Given the description of an element on the screen output the (x, y) to click on. 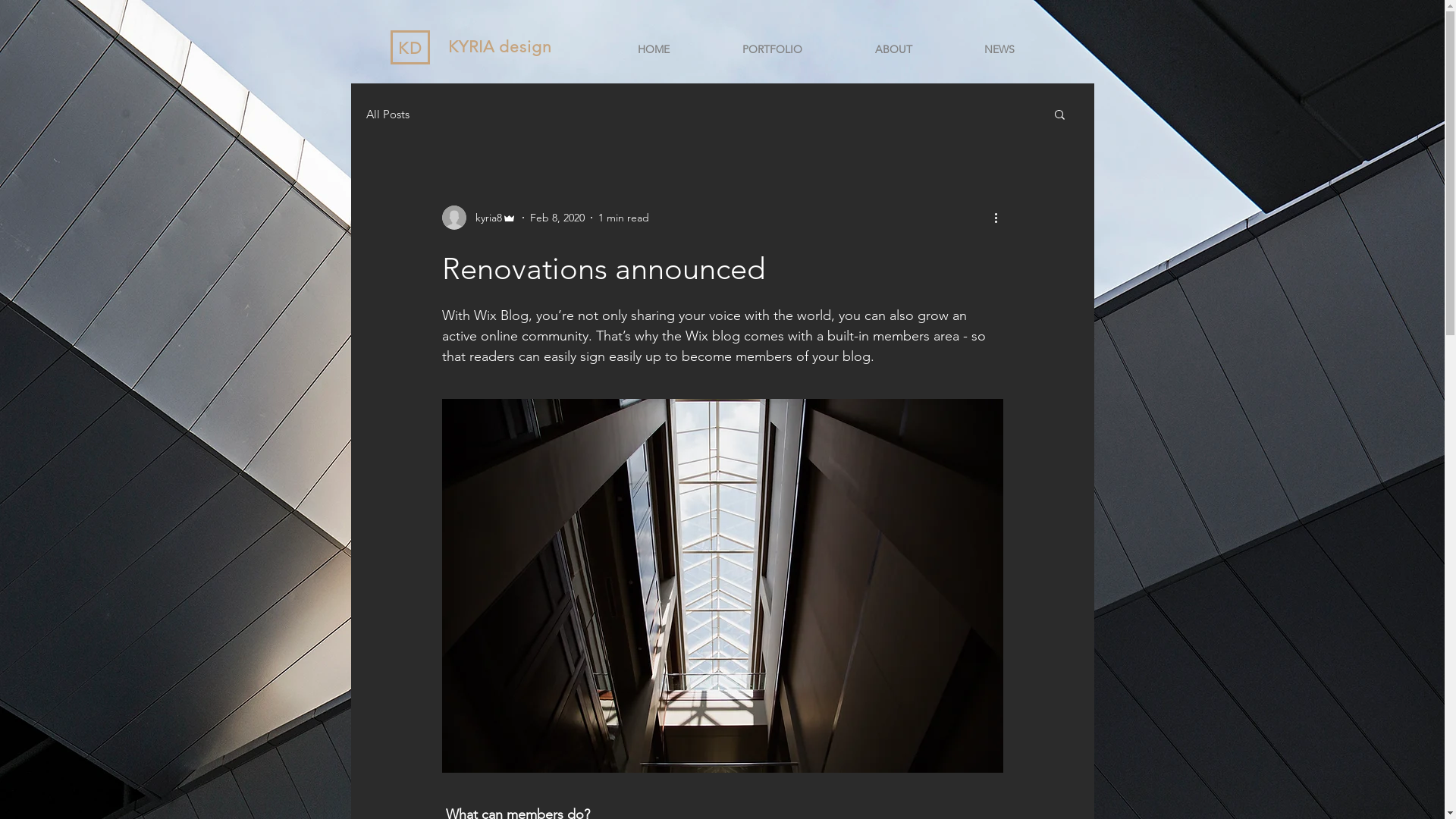
PORTFOLIO Element type: text (771, 48)
ABOUT Element type: text (893, 48)
NEWS Element type: text (998, 48)
All Posts Element type: text (386, 113)
K Element type: text (403, 47)
HOME Element type: text (652, 48)
